Given the description of an element on the screen output the (x, y) to click on. 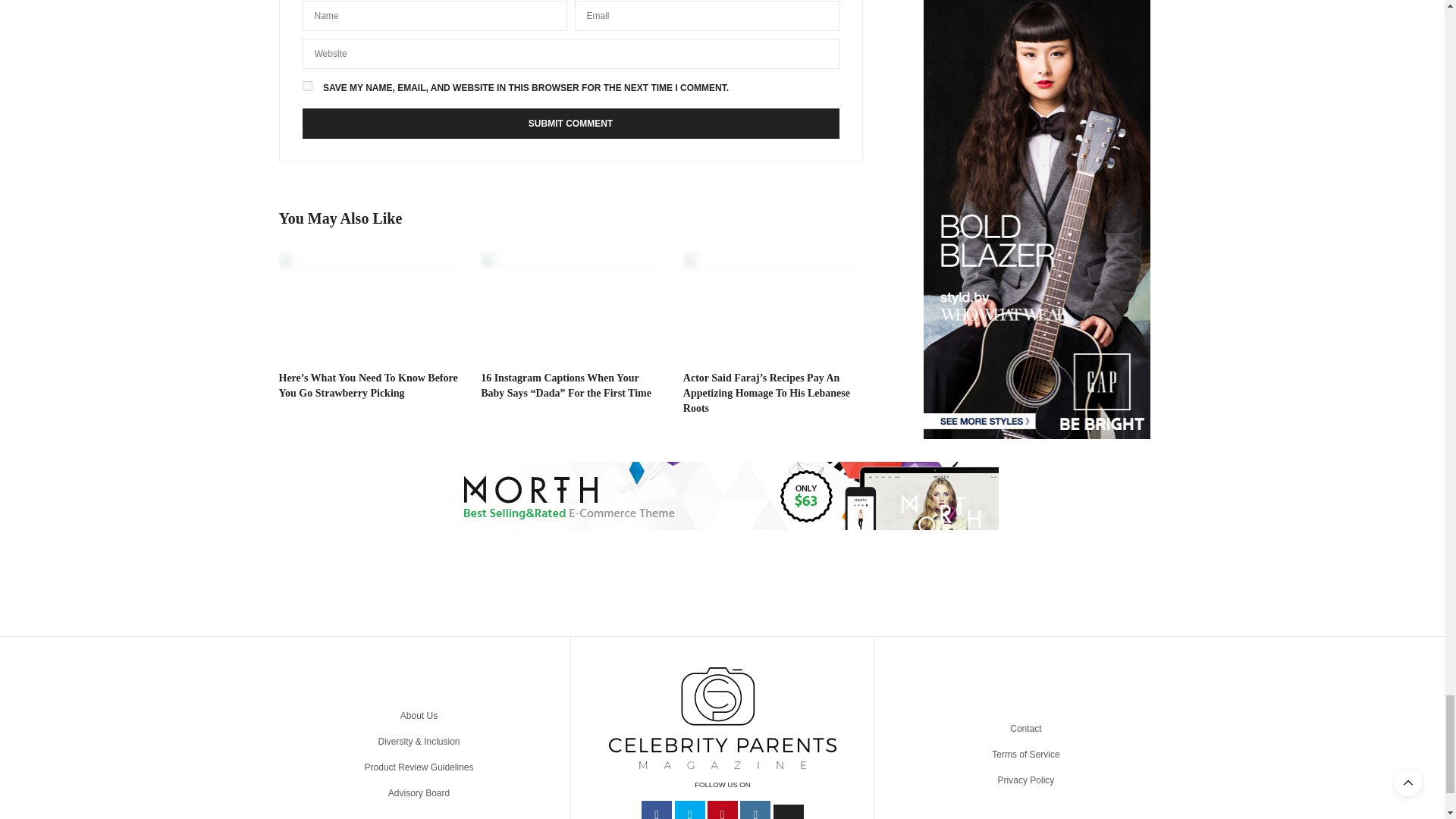
yes (306, 85)
Submit Comment (569, 123)
